Given the description of an element on the screen output the (x, y) to click on. 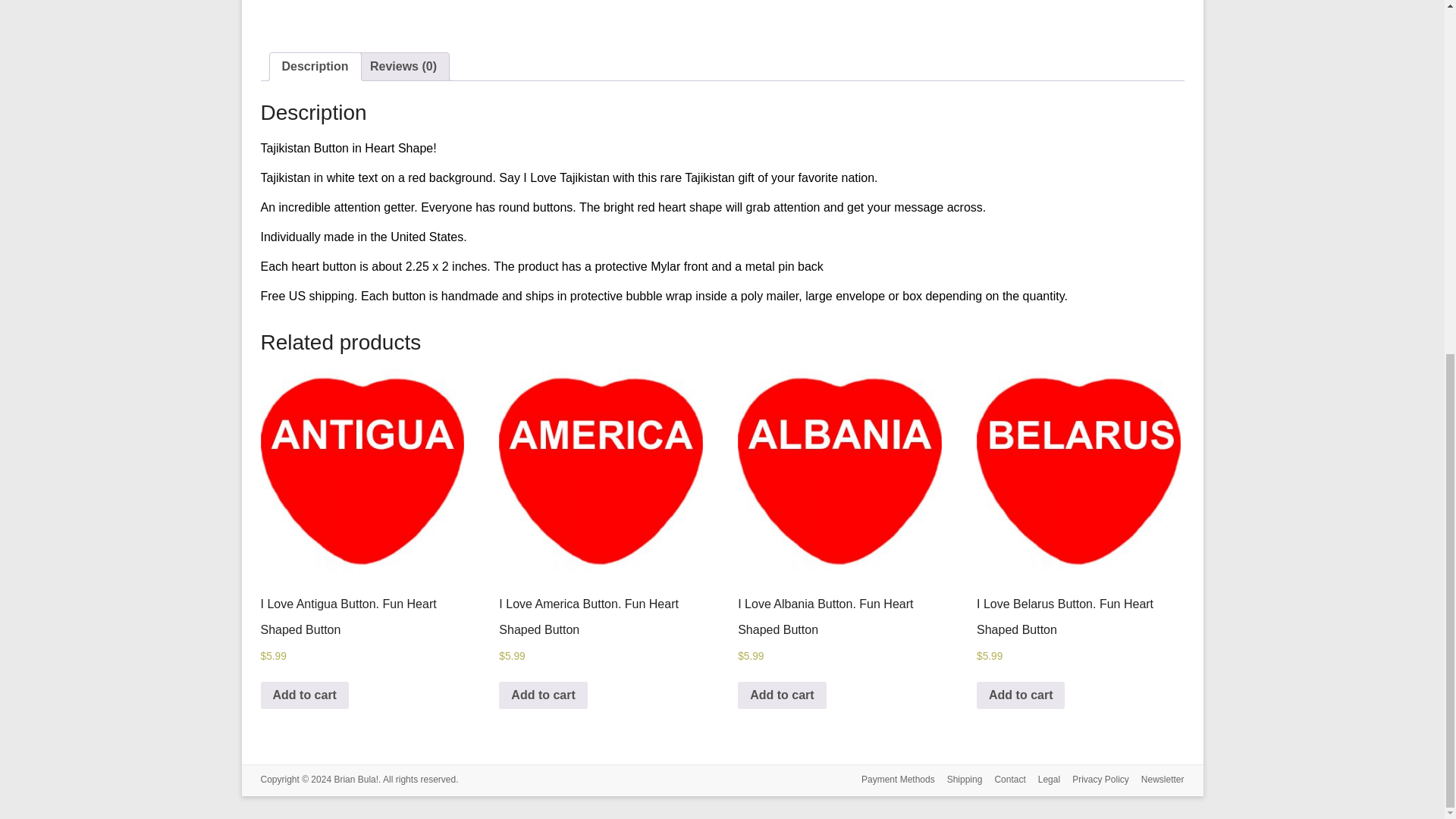
Brian Bula! (355, 778)
Add to cart (542, 695)
Add to cart (781, 695)
Add to cart (304, 695)
Add to cart (1020, 695)
Description (315, 66)
